Given the description of an element on the screen output the (x, y) to click on. 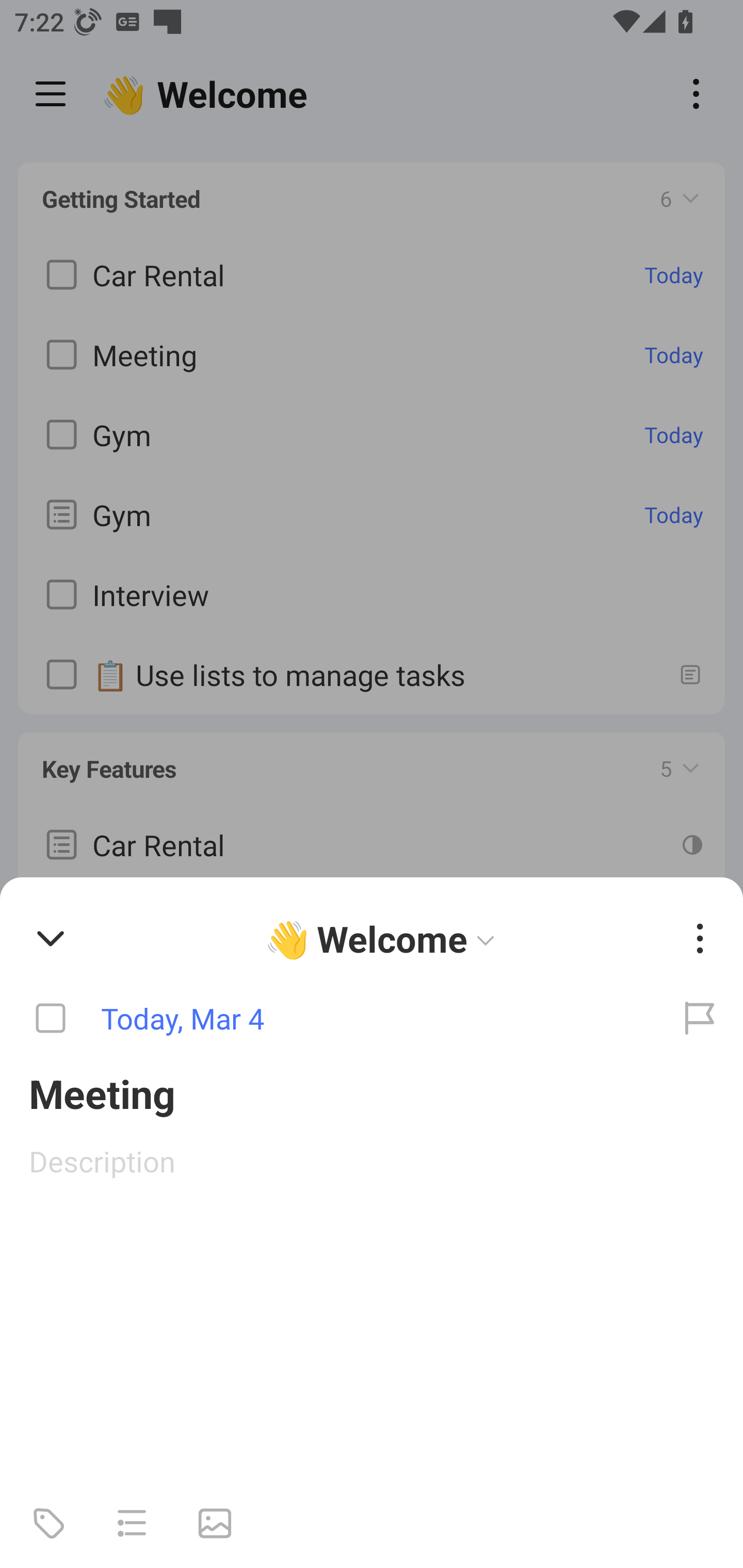
👋 Welcome (384, 938)
Today, Mar 4  (328, 1019)
Meeting (371, 1092)
Description (371, 1160)
Description (371, 1160)
